Given the description of an element on the screen output the (x, y) to click on. 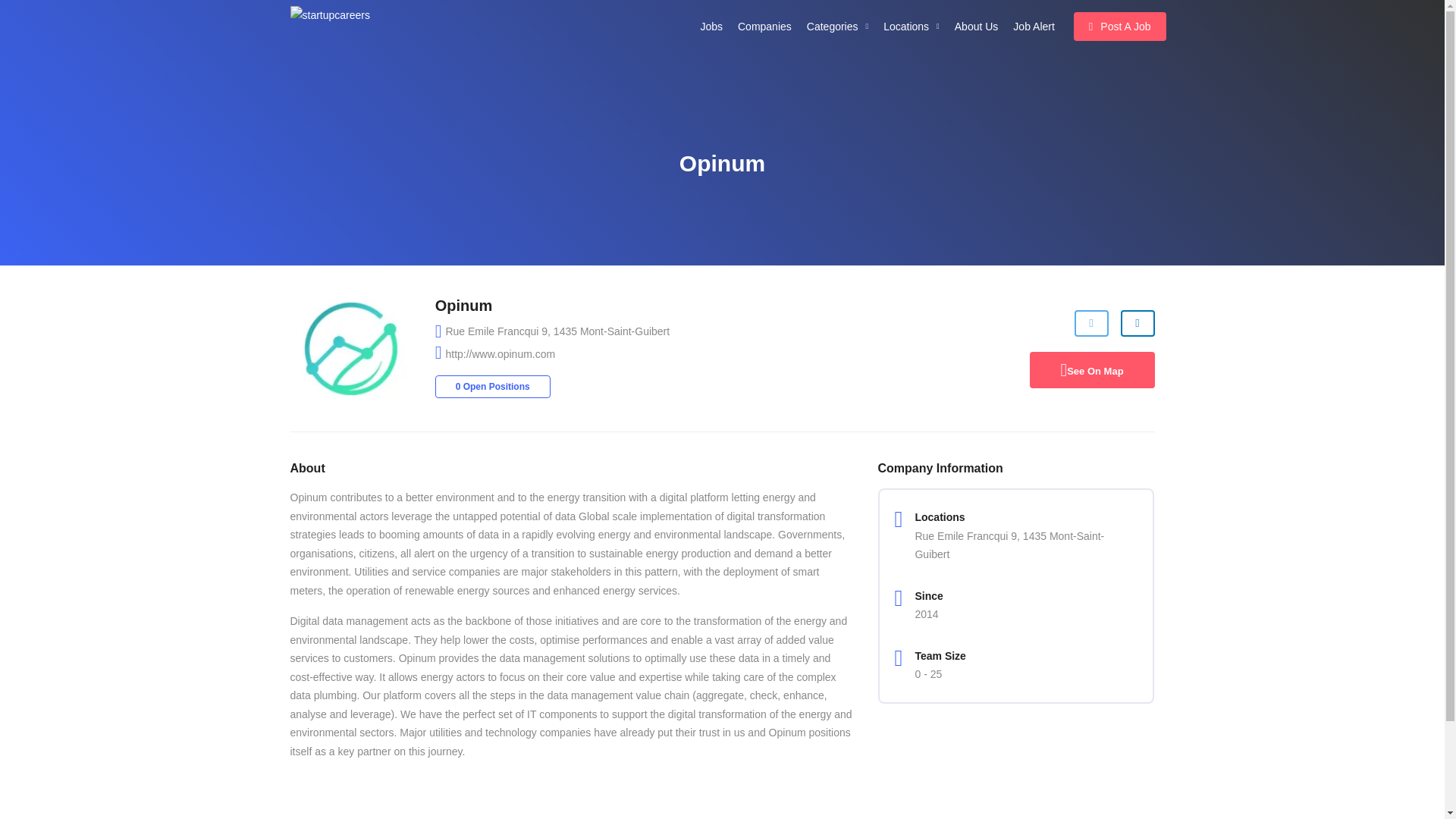
Jobs (711, 26)
Locations (911, 26)
Categories (837, 26)
Companies (764, 26)
Job Alert (1033, 26)
Rue Emile Francqui 9, 1435 Mont-Saint-Guibert (557, 332)
About Us (976, 26)
Post A Job (1120, 26)
